Given the description of an element on the screen output the (x, y) to click on. 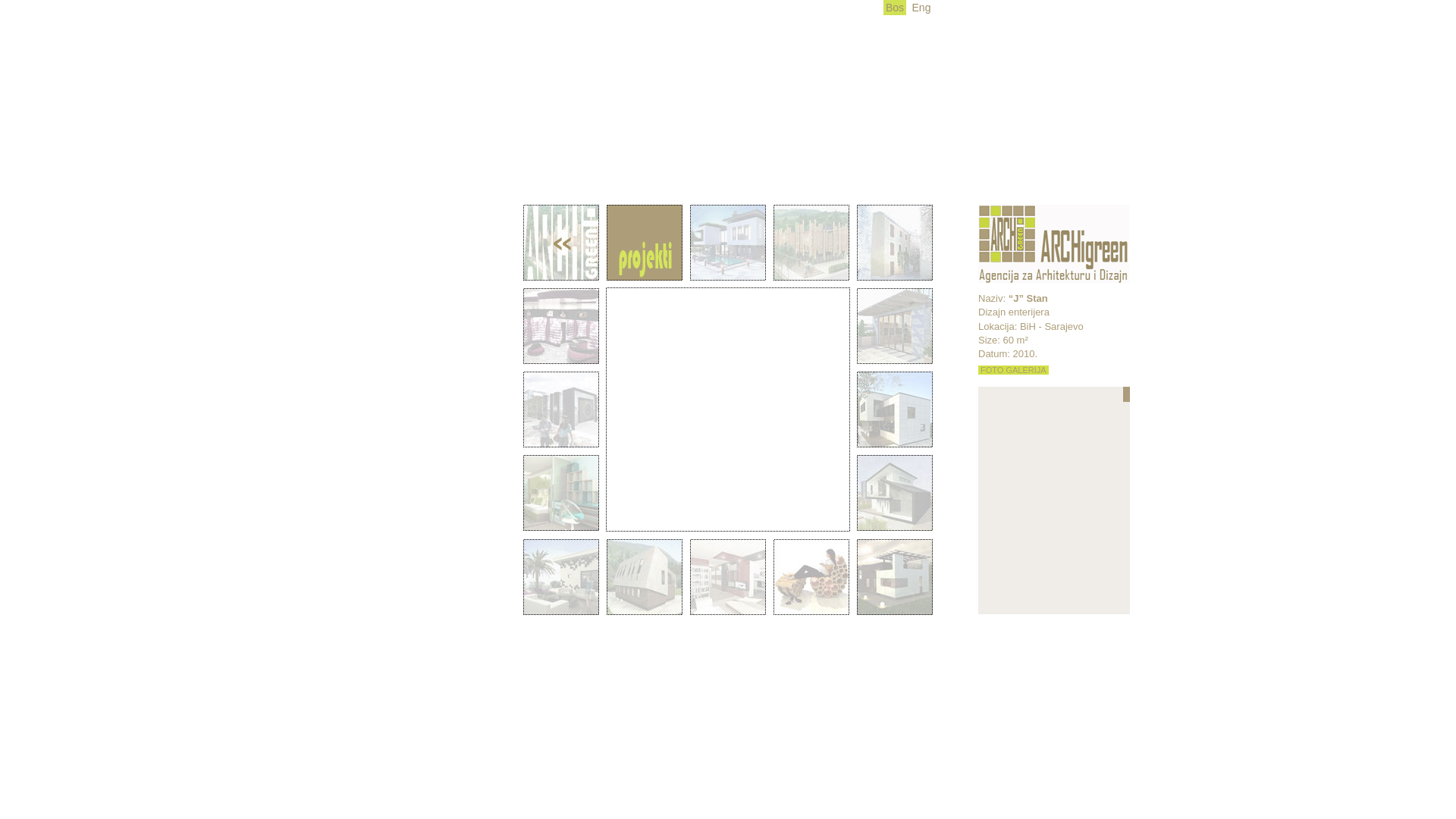
Eng Element type: text (921, 7)
ZOI ambulanta Element type: text (644, 577)
Enterijeri Element type: text (727, 577)
NE House Element type: text (894, 577)
Home Element type: text (561, 242)
Swiss House Element type: text (894, 492)
Adaptacija Element type: text (894, 326)
Pixel House Element type: text (561, 577)
Eko Centar Element type: text (811, 242)
Cube House Element type: text (894, 409)
Filmska akademija Element type: text (561, 409)
Enterijer Element type: text (561, 492)
Parfimerija Element type: text (561, 326)
Bos Element type: text (894, 7)
Eco Green stolica Element type: text (811, 577)
FOTO GALERIJA Element type: text (1013, 369)
Old New Element type: text (727, 242)
